Given the description of an element on the screen output the (x, y) to click on. 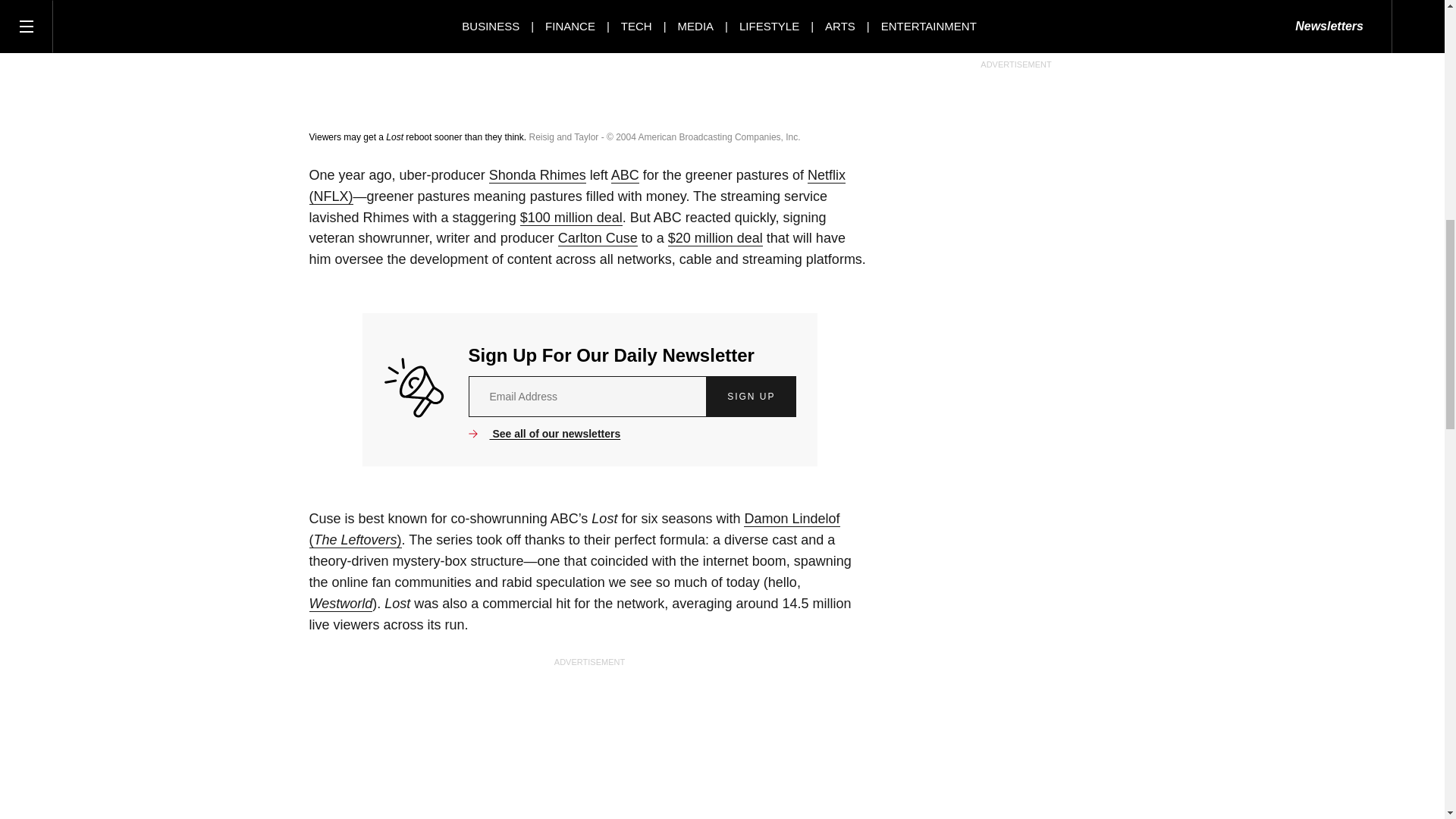
Shonda Rhimes (537, 175)
Netflix (576, 185)
Carlton Cuse (597, 238)
ABC (625, 175)
